Given the description of an element on the screen output the (x, y) to click on. 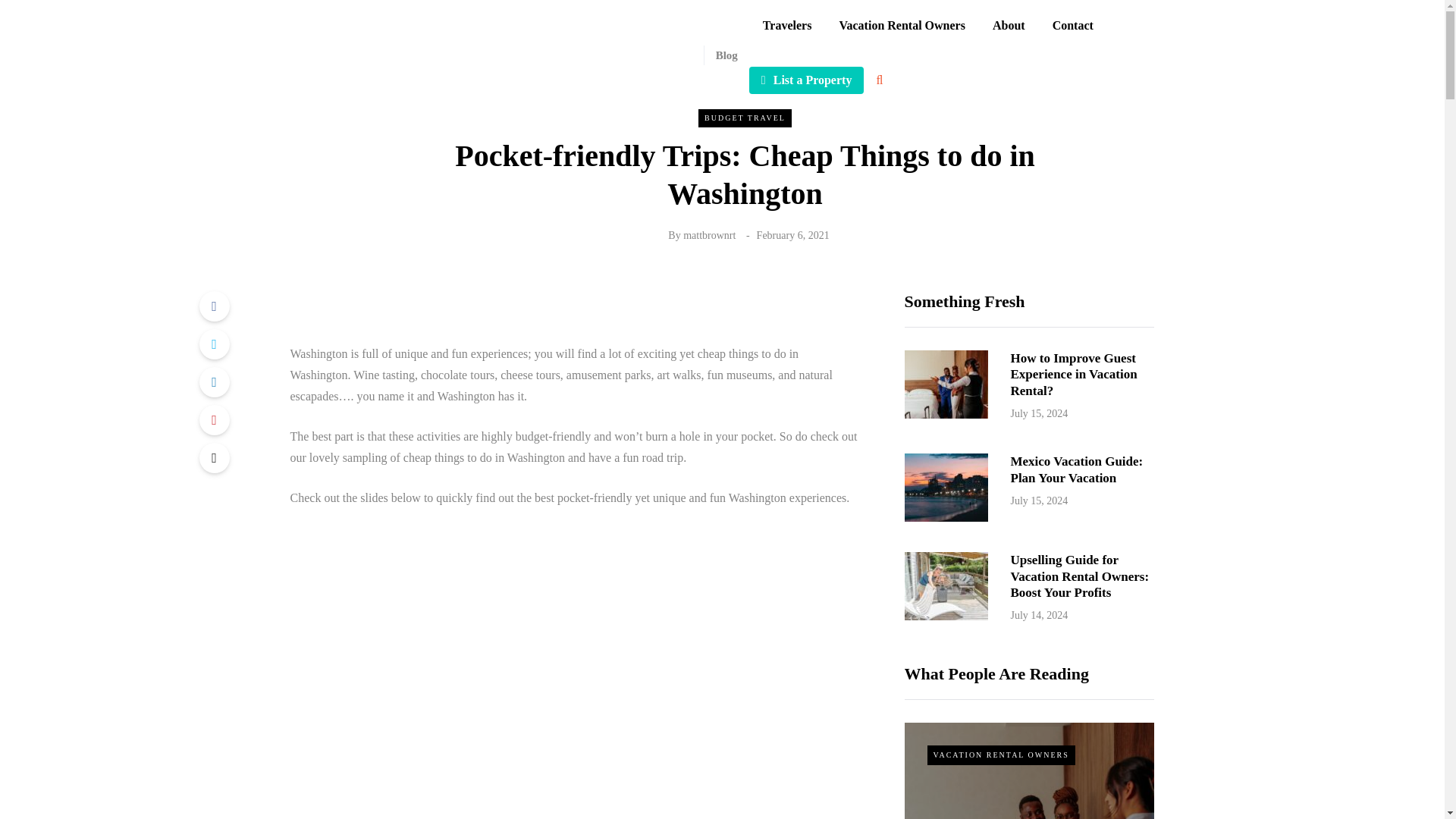
BUDGET TRAVEL (745, 117)
About (1008, 25)
Vacation Rental Owners (901, 25)
Tweet this (213, 344)
Share with Facebook (213, 306)
List a Property (806, 80)
Blog (720, 55)
Pin this (213, 419)
Share by Email (213, 458)
Share with LinkedIn (213, 381)
